Given the description of an element on the screen output the (x, y) to click on. 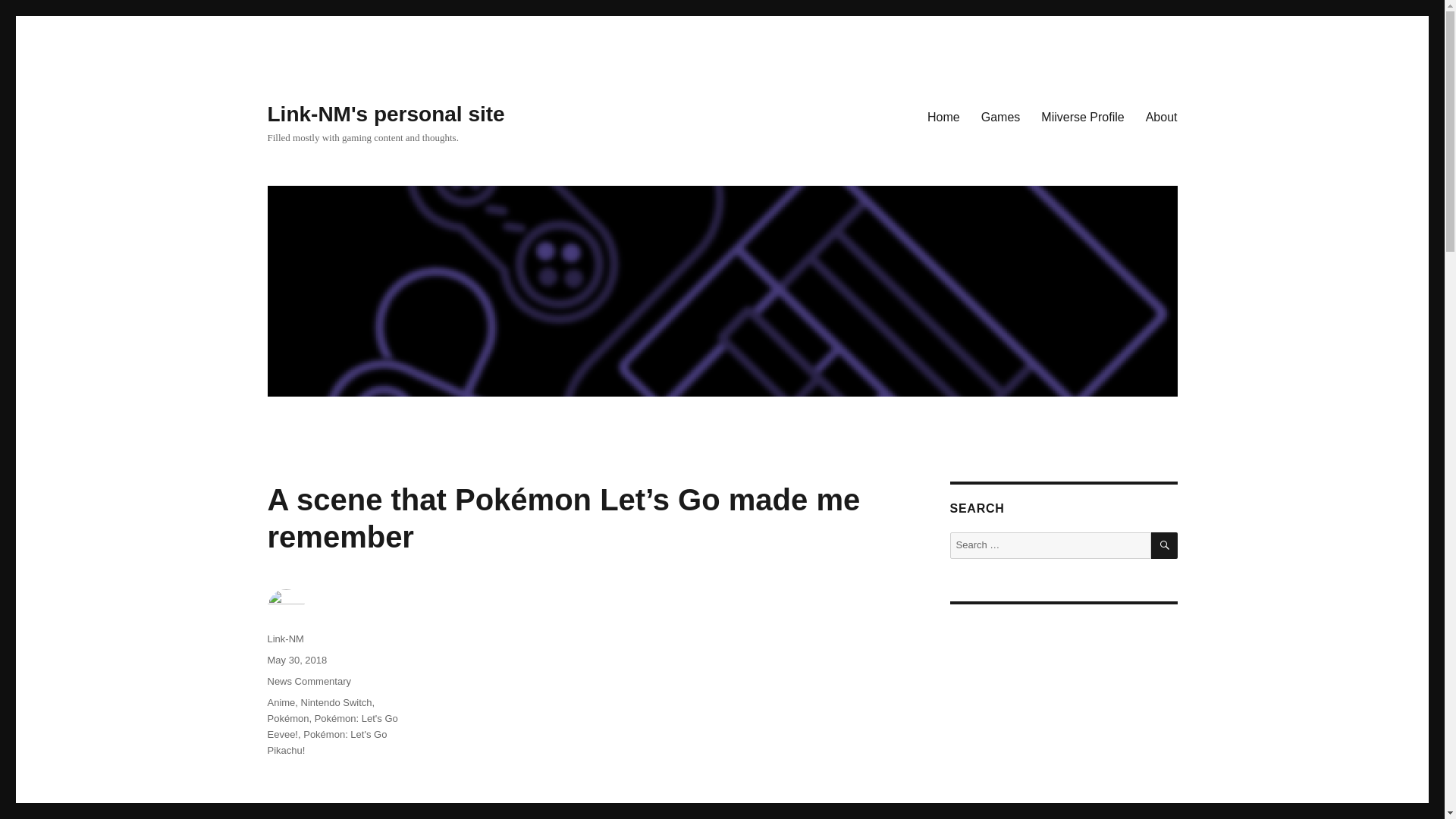
Anime (280, 702)
About (1161, 116)
News Commentary (308, 681)
Link-NM (284, 638)
SEARCH (1164, 545)
Nintendo Switch (336, 702)
Miiverse Profile (1082, 116)
Home (944, 116)
Games (1000, 116)
May 30, 2018 (296, 659)
